Given the description of an element on the screen output the (x, y) to click on. 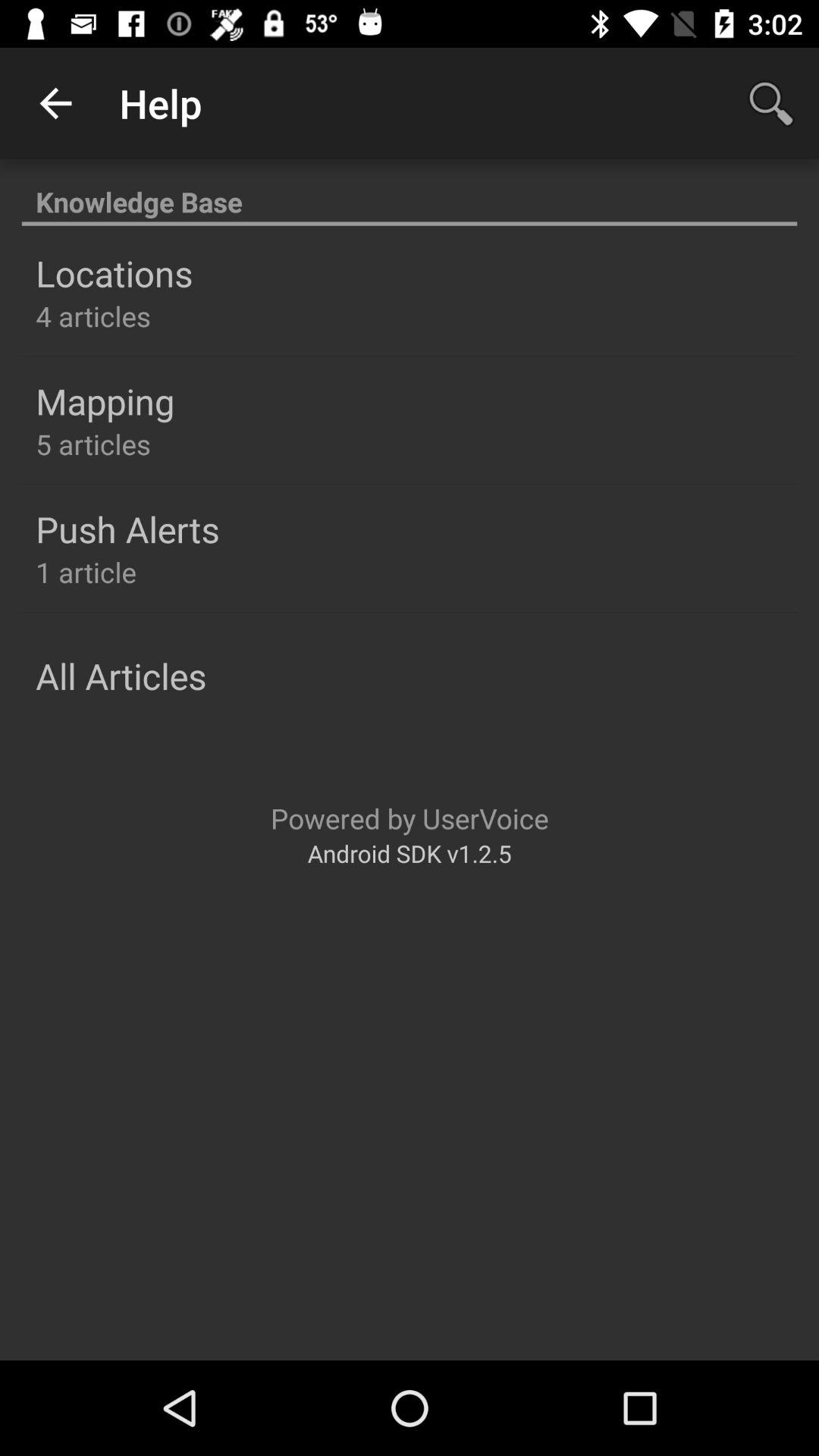
choose mapping item (104, 401)
